Given the description of an element on the screen output the (x, y) to click on. 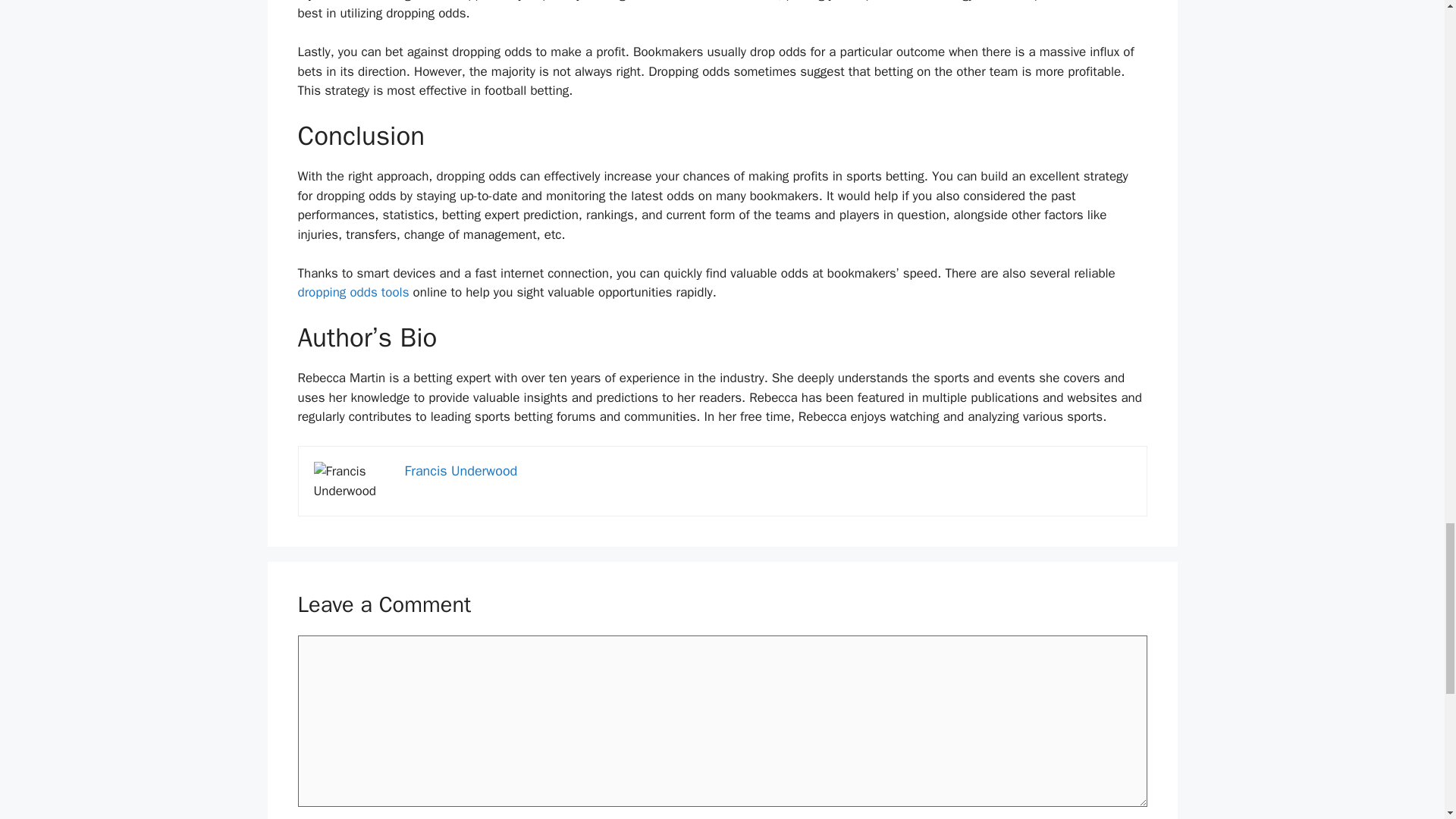
Francis Underwood (461, 470)
dropping odds tools (353, 292)
